Given the description of an element on the screen output the (x, y) to click on. 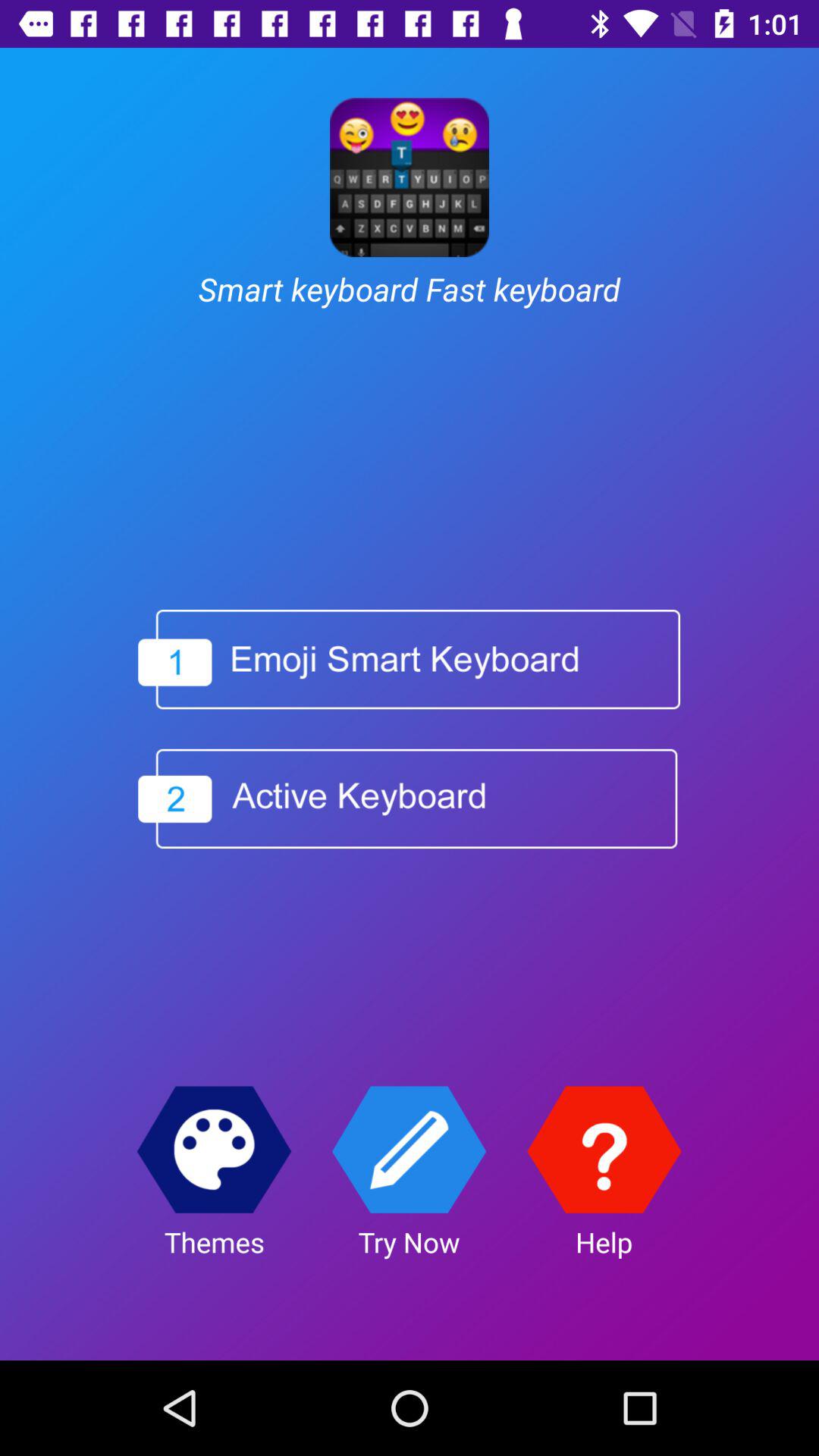
launch the item above the themes app (214, 1149)
